Given the description of an element on the screen output the (x, y) to click on. 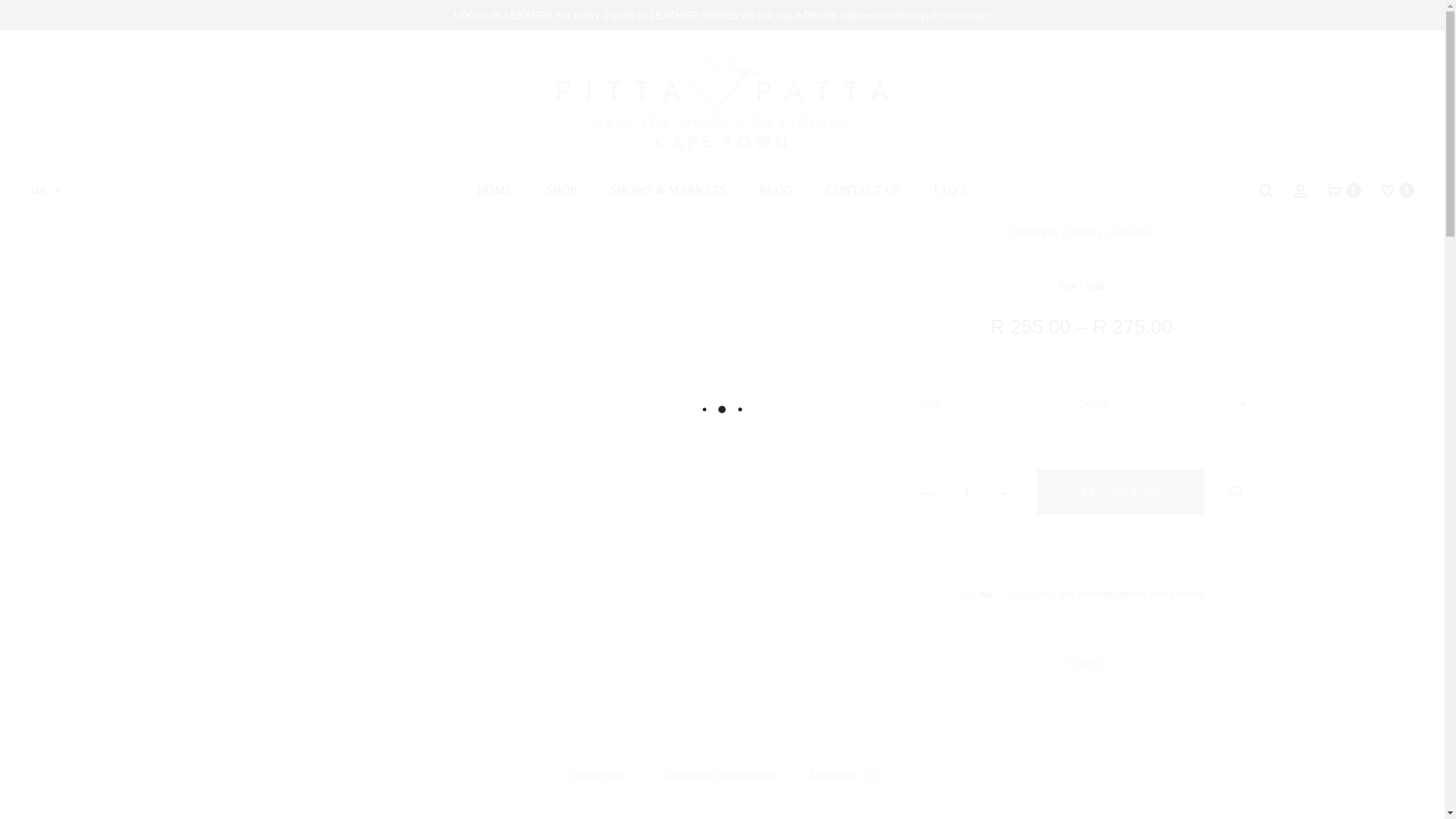
0 (1387, 190)
Account (1299, 190)
Search (1266, 190)
BLOG (775, 190)
1 (965, 491)
0 (1334, 190)
SHOP (561, 190)
CONTACT US (862, 190)
Home (41, 56)
SALE (79, 56)
